Given the description of an element on the screen output the (x, y) to click on. 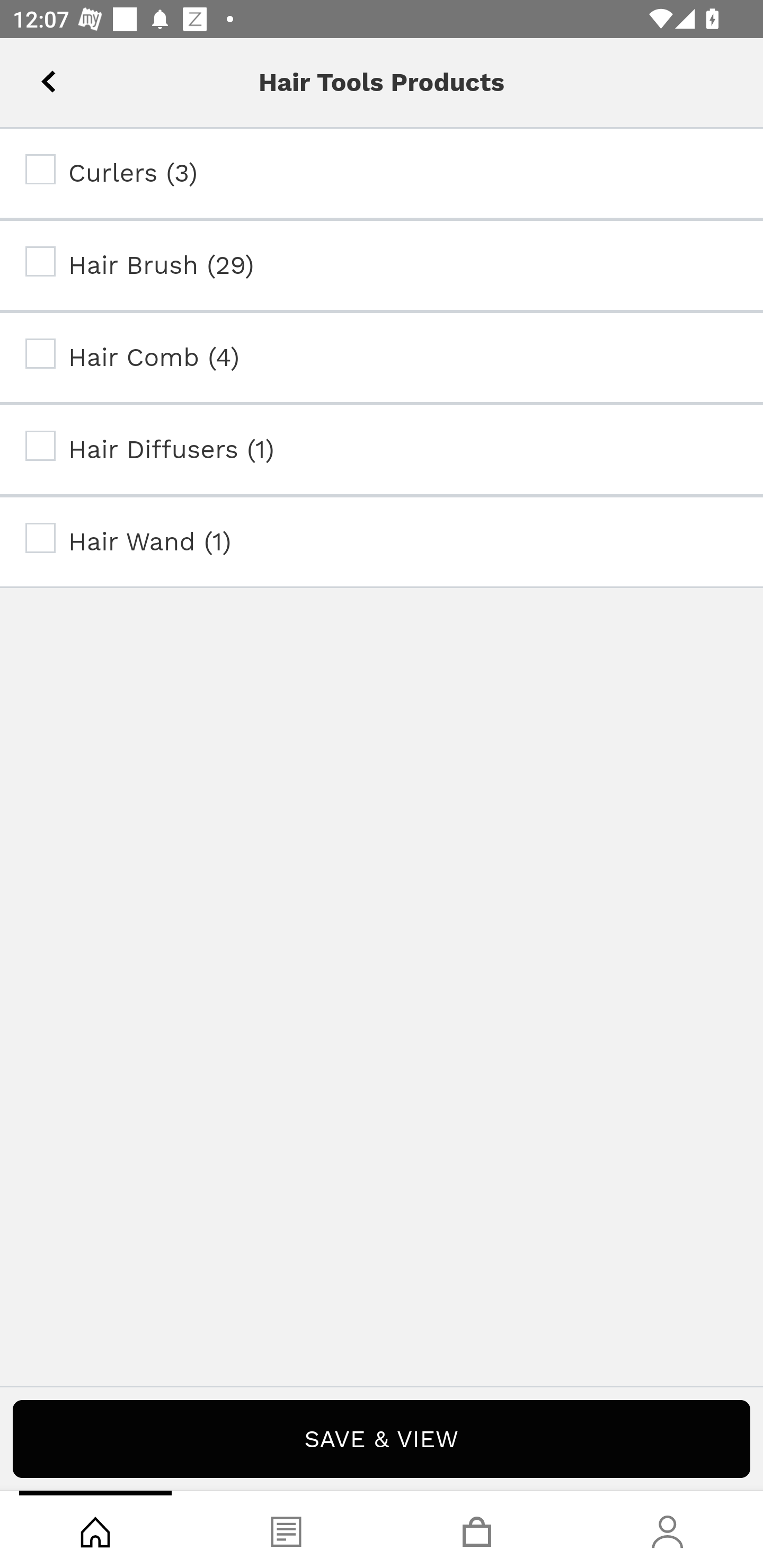
Open Menu (38, 75)
Open search (114, 75)
Lookfantastic USA (381, 75)
Shop, tab, 1 of 4 (95, 1529)
Blog, tab, 2 of 4 (285, 1529)
Basket, tab, 3 of 4 (476, 1529)
Account, tab, 4 of 4 (667, 1529)
